Given the description of an element on the screen output the (x, y) to click on. 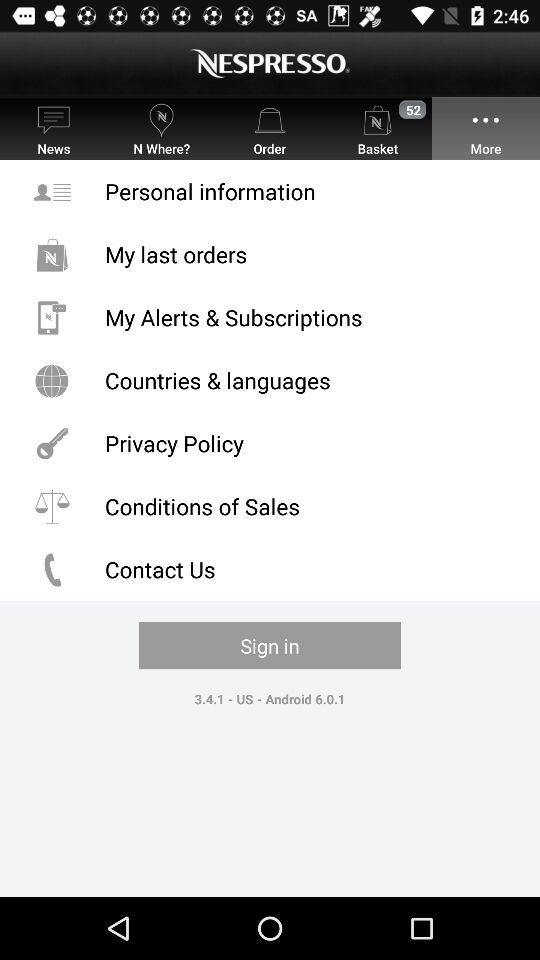
open the my last orders item (270, 254)
